Given the description of an element on the screen output the (x, y) to click on. 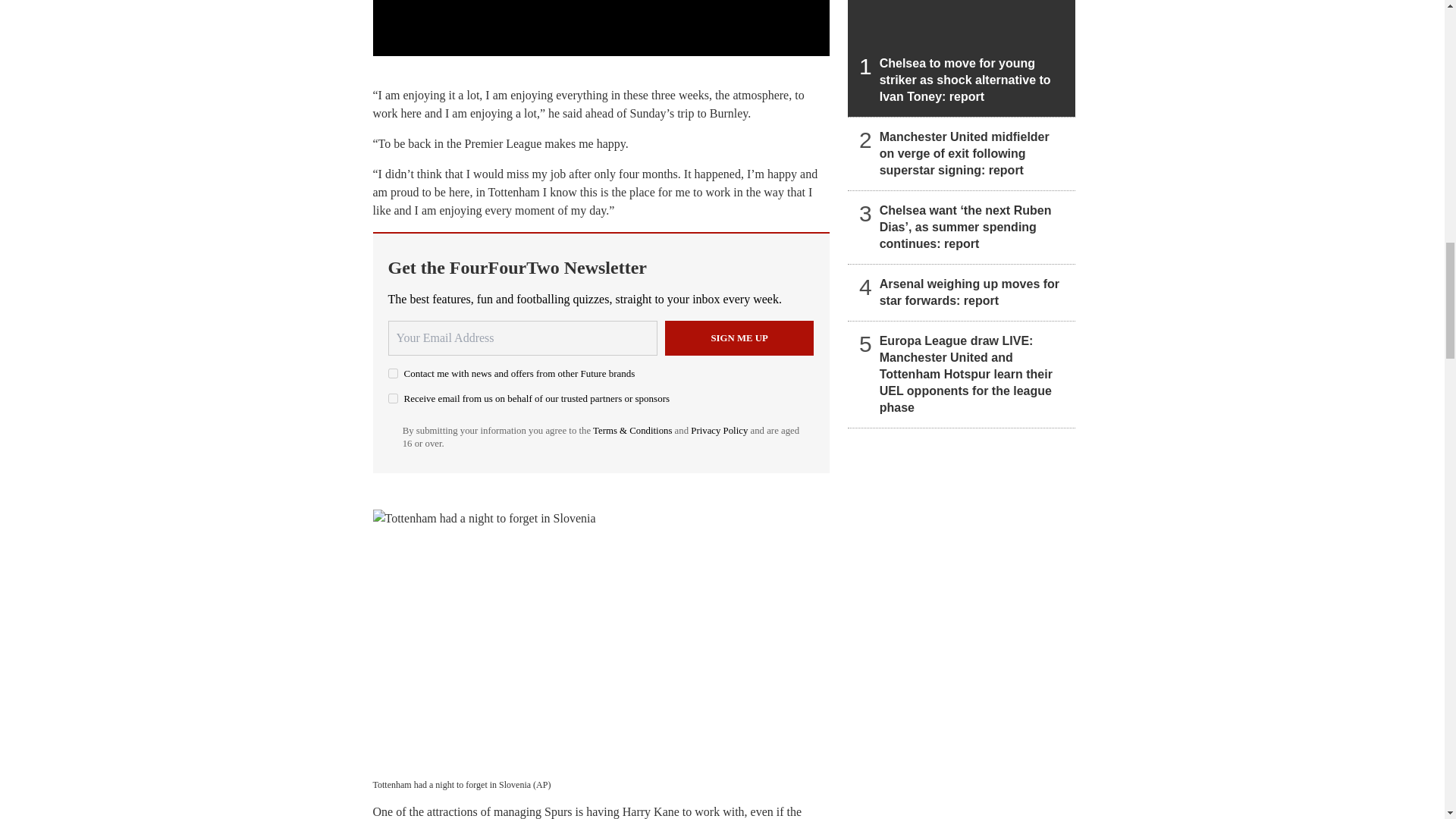
on (392, 398)
on (392, 373)
Sign me up (739, 338)
